Given the description of an element on the screen output the (x, y) to click on. 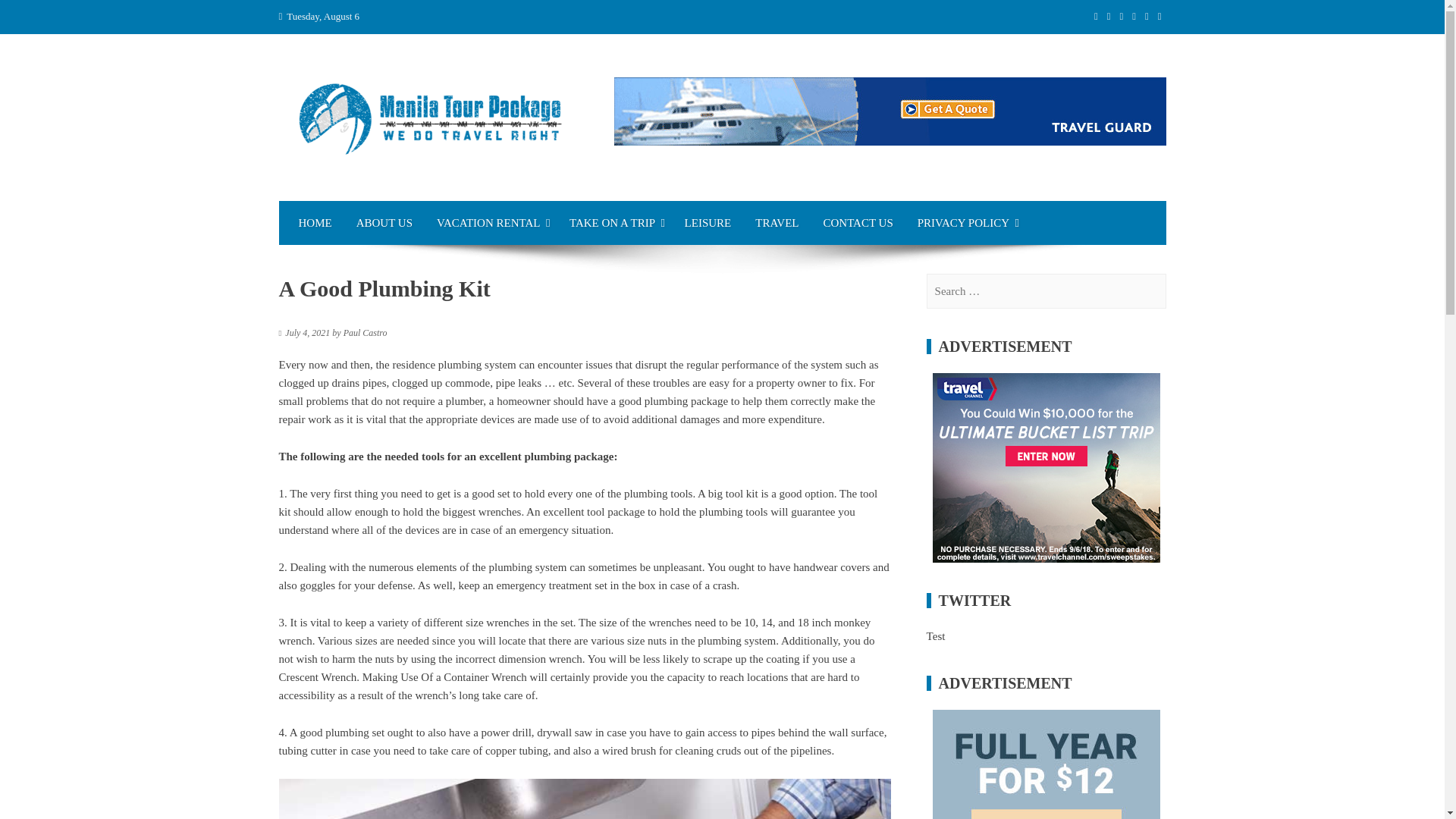
TAKE ON A TRIP (614, 222)
TRAVEL (776, 222)
LEISURE (708, 222)
Search (30, 16)
ABOUT US (384, 222)
Test (935, 635)
VACATION RENTAL (491, 222)
HOME (314, 222)
CONTACT US (857, 222)
PRIVACY POLICY (965, 222)
